Given the description of an element on the screen output the (x, y) to click on. 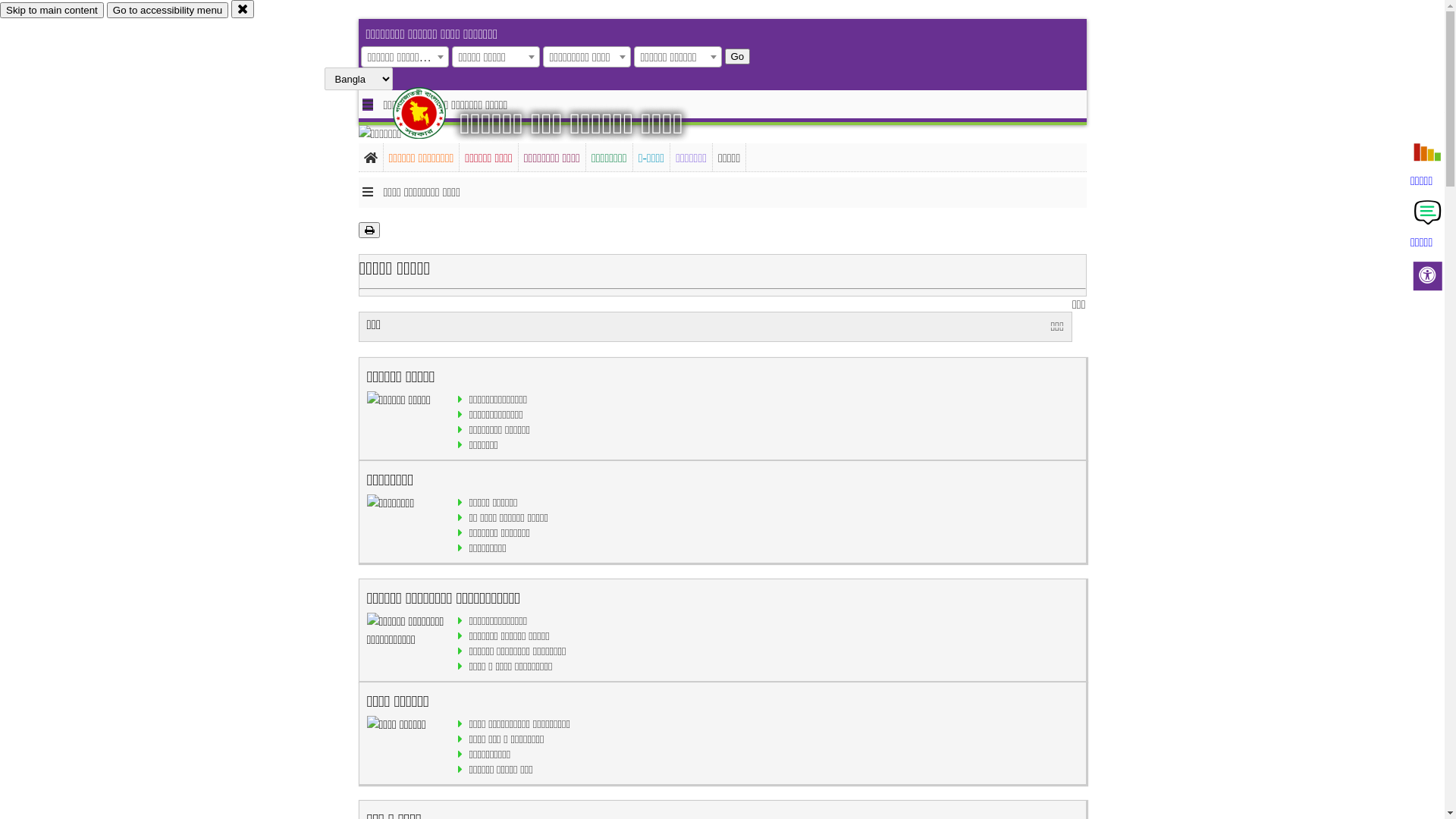
Go Element type: text (737, 56)
Go to accessibility menu Element type: text (167, 10)

                
             Element type: hover (431, 112)
Skip to main content Element type: text (51, 10)
close Element type: hover (242, 9)
